Given the description of an element on the screen output the (x, y) to click on. 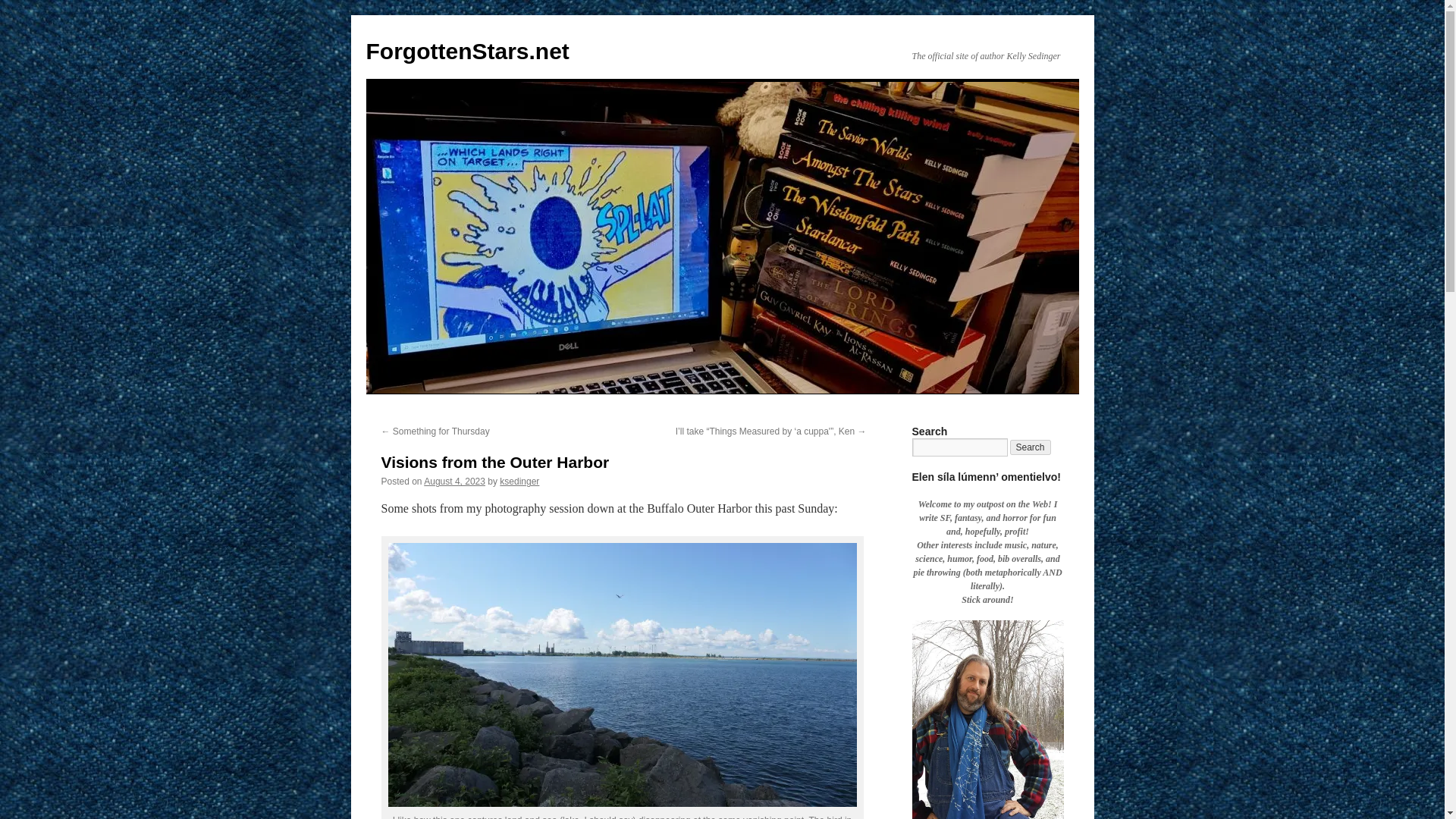
View all posts by ksedinger (518, 480)
ksedinger (518, 480)
6:07 pm (453, 480)
August 4, 2023 (453, 480)
Search (1030, 447)
ForgottenStars.net (467, 50)
Search (1030, 447)
